Given the description of an element on the screen output the (x, y) to click on. 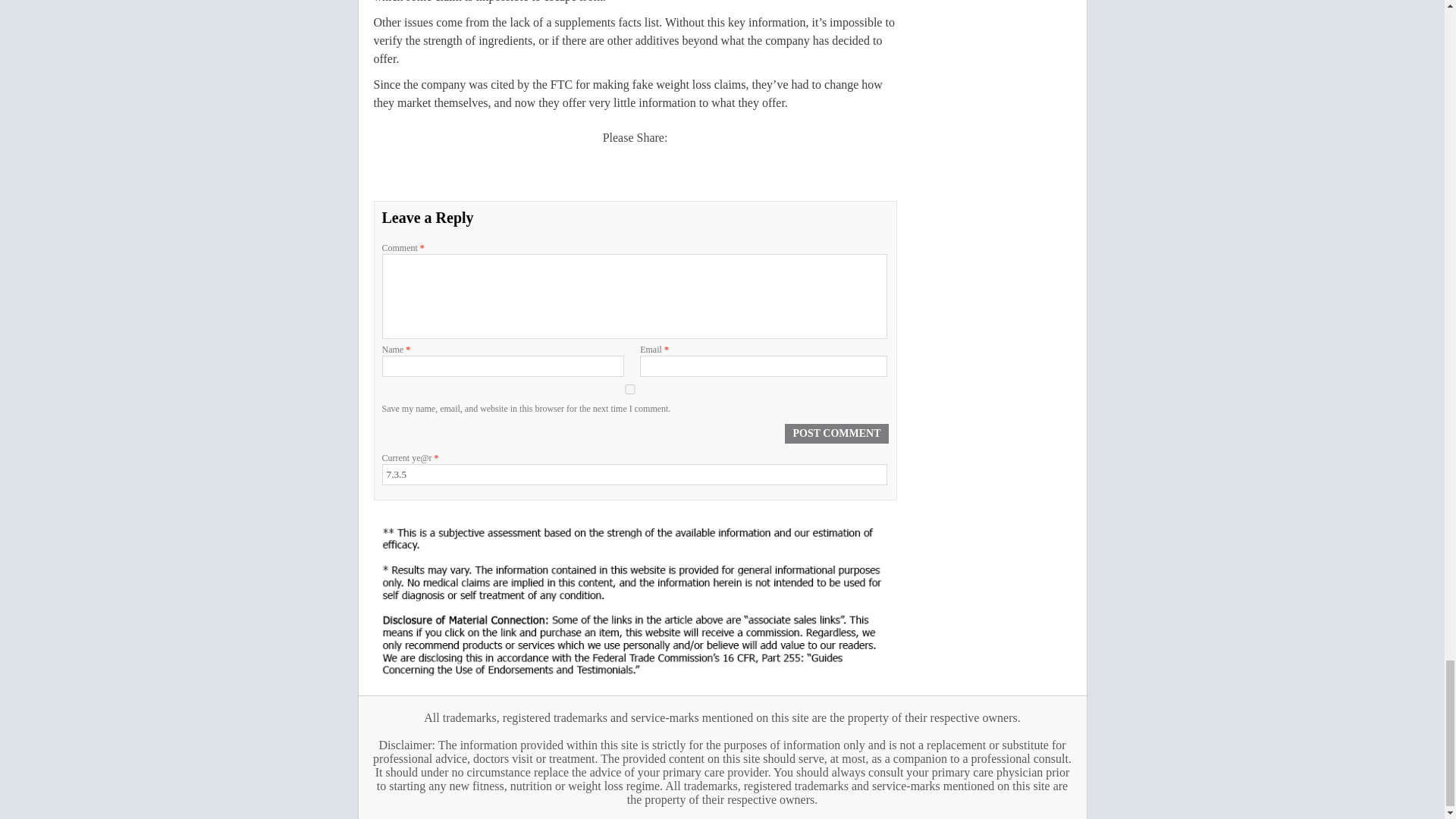
yes (630, 388)
Post Comment (836, 433)
7.3.5 (634, 474)
Post Comment (836, 433)
